Given the description of an element on the screen output the (x, y) to click on. 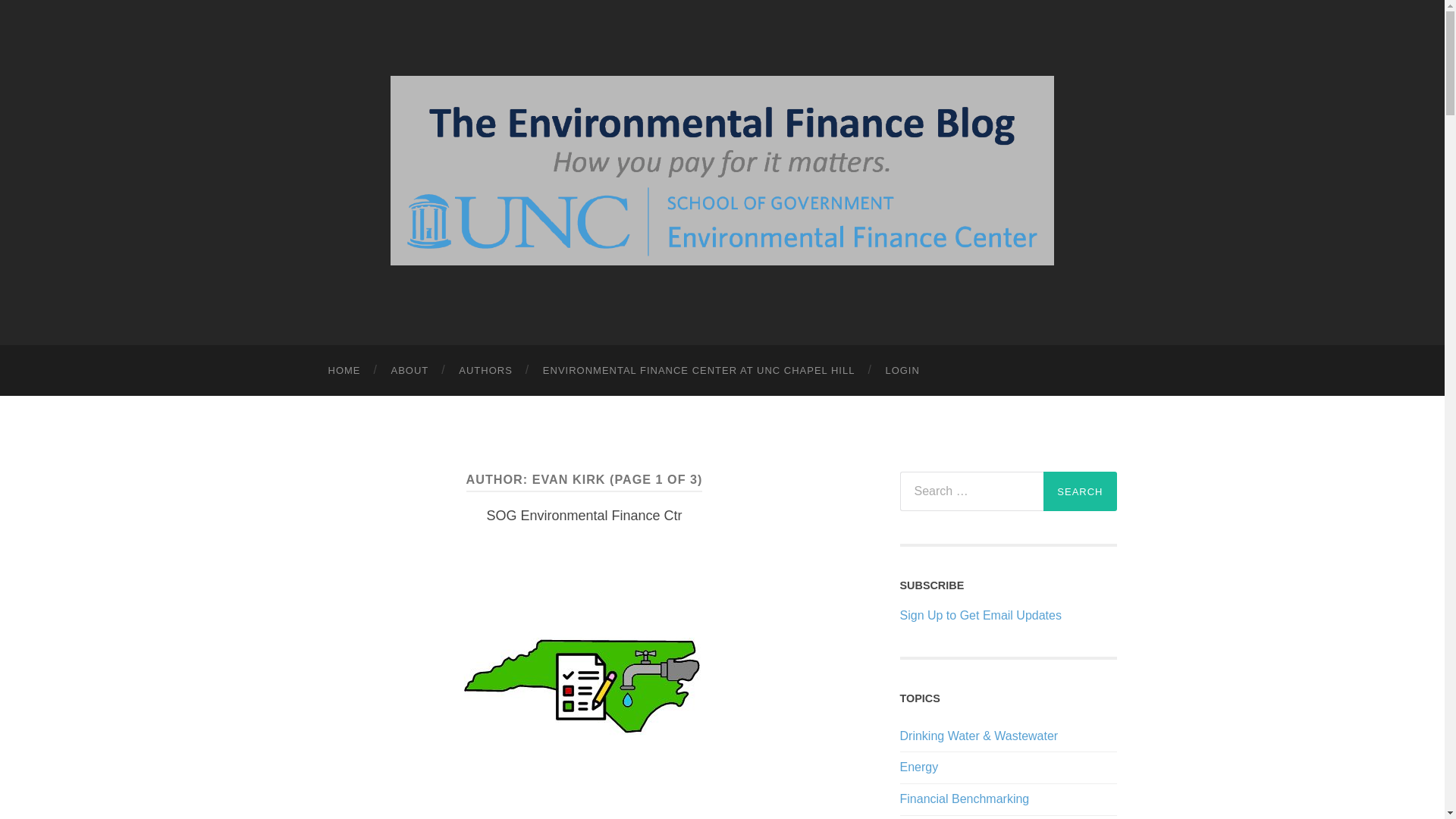
Environmental Finance Blog (722, 170)
Search (1079, 491)
ENVIRONMENTAL FINANCE CENTER AT UNC CHAPEL HILL (698, 369)
Search (1079, 491)
LOGIN (901, 369)
AUTHORS (485, 369)
HOME (344, 369)
ABOUT (409, 369)
